Given the description of an element on the screen output the (x, y) to click on. 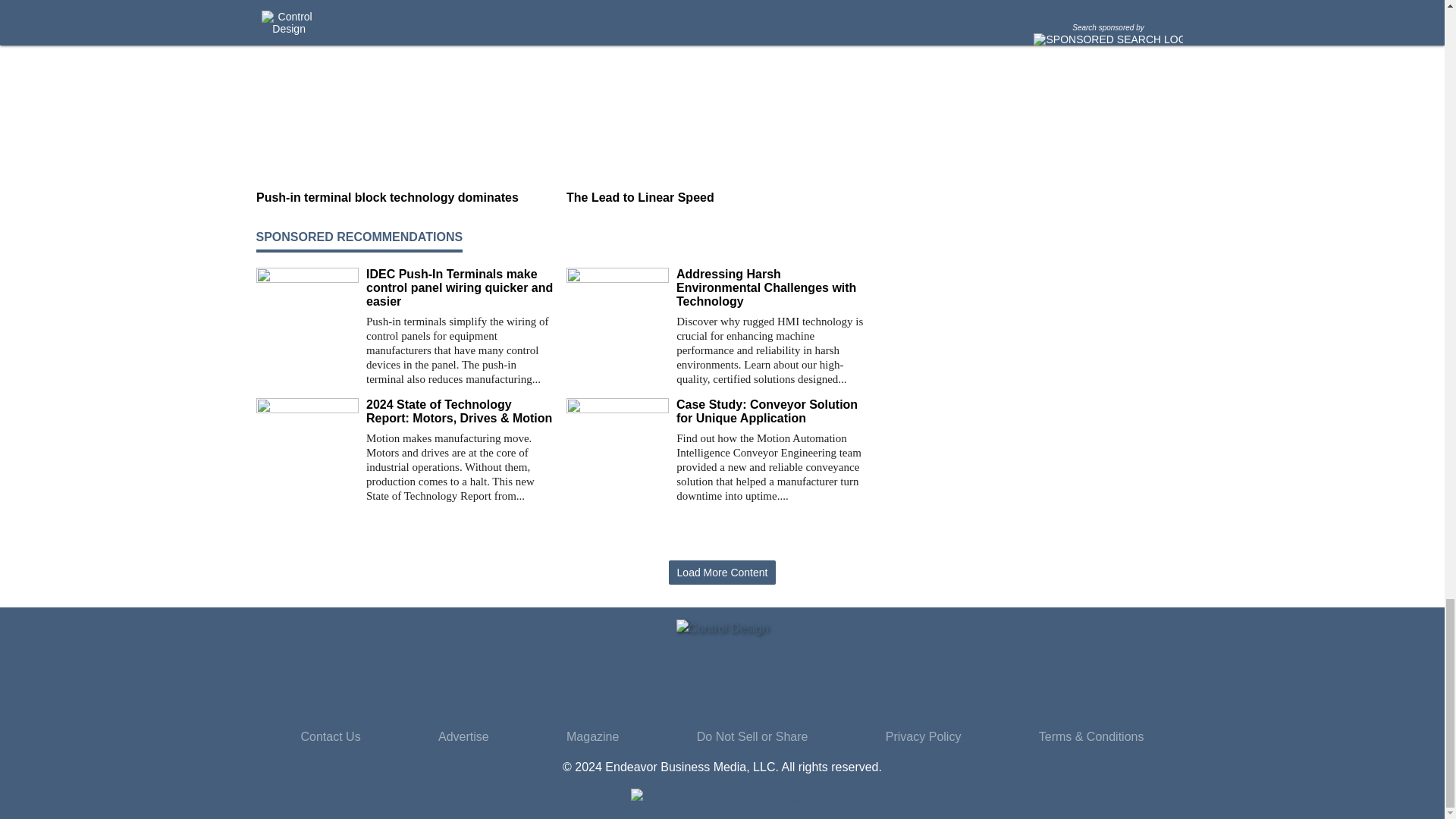
The Lead to Linear Speed (715, 197)
Addressing Harsh Environmental Challenges with Technology (770, 287)
Push-in terminal block technology dominates (405, 197)
Case Study: Conveyor Solution for Unique Application (770, 411)
